Given the description of an element on the screen output the (x, y) to click on. 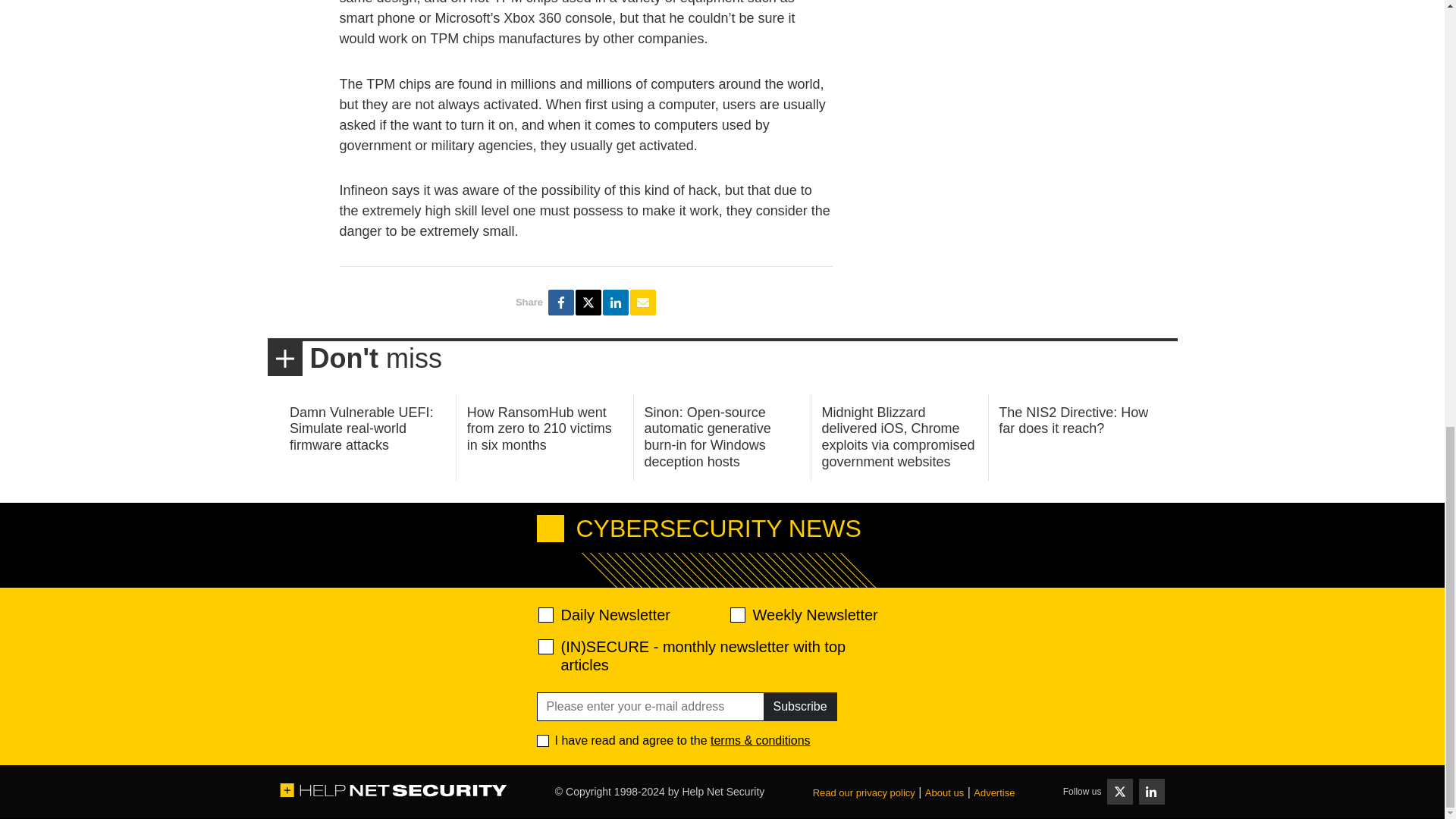
Subscribe (798, 706)
How RansomHub went from zero to 210 victims in six months (539, 428)
d2d471aafa (736, 614)
520ac2f639 (545, 614)
The NIS2 Directive: How far does it reach? (1073, 420)
28abe5d9ef (545, 646)
